Given the description of an element on the screen output the (x, y) to click on. 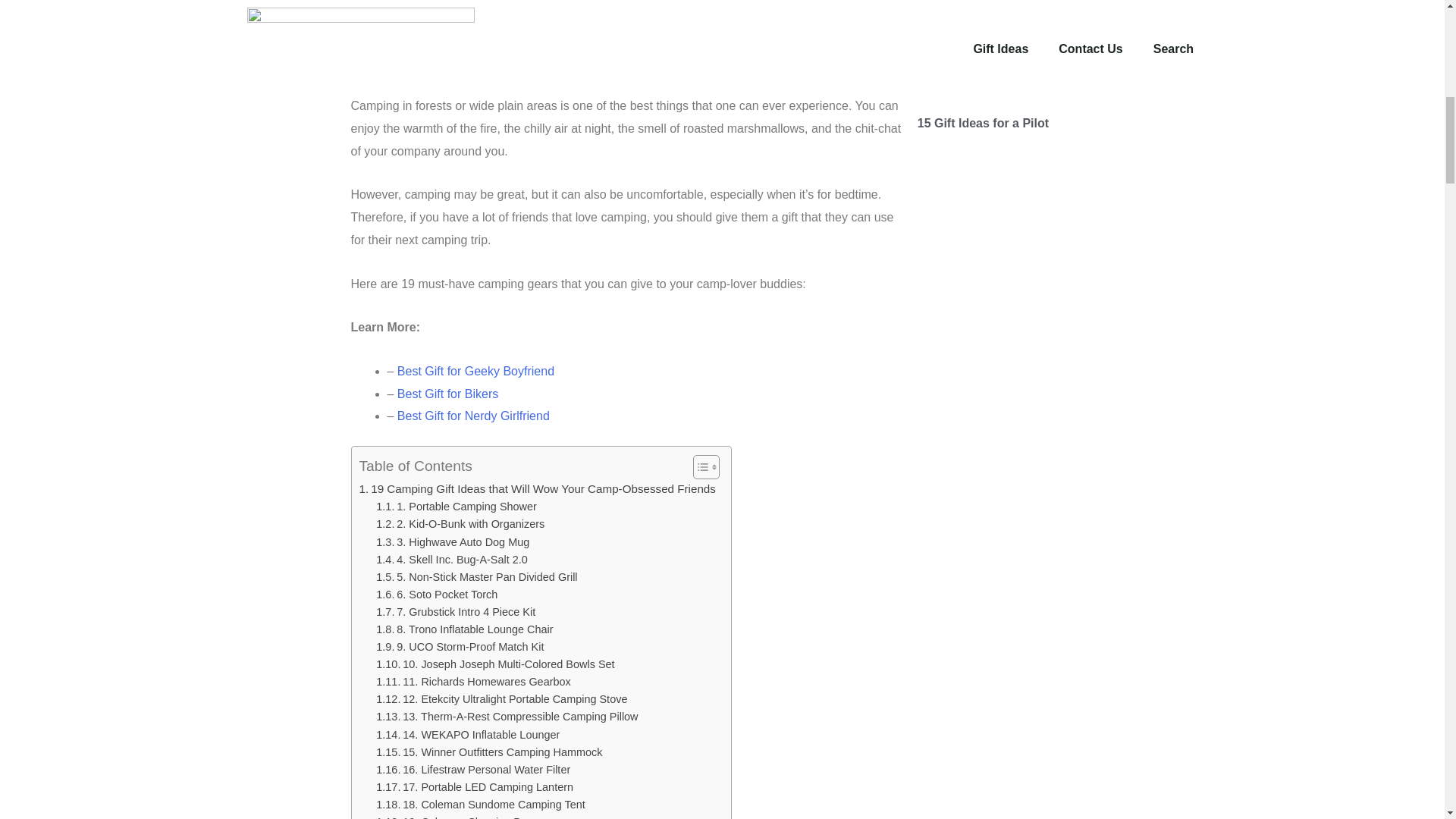
Best Gift for Geeky Boyfriend (475, 370)
6. Soto Pocket Torch (436, 594)
17. Portable LED Camping Lantern (474, 787)
9. UCO Storm-Proof Match Kit (459, 647)
14. WEKAPO Inflatable Lounger (467, 734)
3. Highwave Auto Dog Mug (452, 542)
10. Joseph Joseph Multi-Colored Bowls Set (494, 664)
19. Coleman Sleeping Bag (453, 816)
Best Gift for Bikers (447, 393)
15. Winner Outfitters Camping Hammock (488, 752)
7. Grubstick Intro 4 Piece Kit (455, 611)
8. Trono Inflatable Lounge Chair (464, 629)
Best Gift for Nerdy Girlfriend (473, 415)
12. Etekcity Ultralight Portable Camping Stove (501, 699)
